Given the description of an element on the screen output the (x, y) to click on. 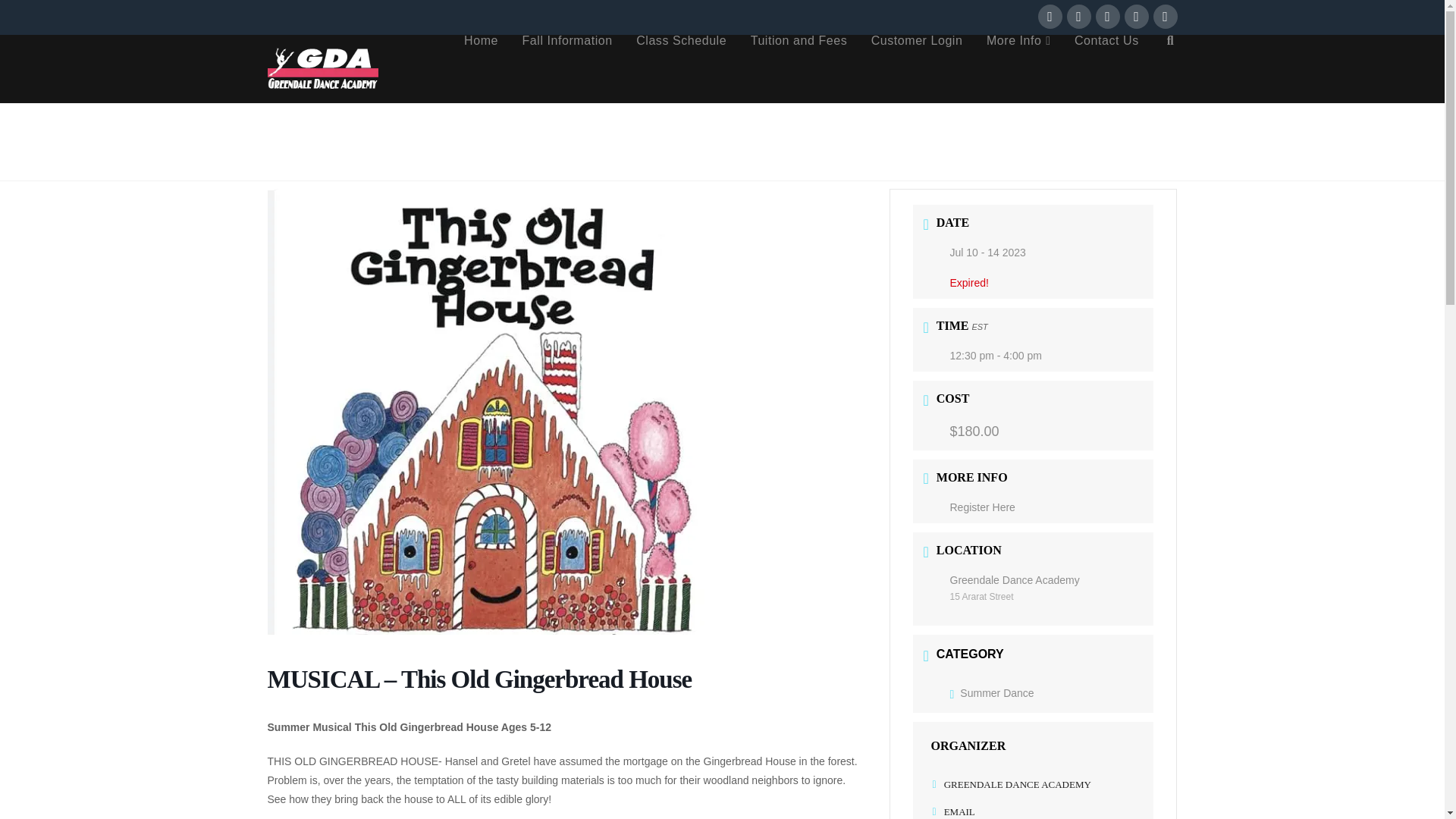
Class Schedule (681, 69)
Contact Us (1106, 69)
Customer Login (916, 69)
Facebook (1048, 16)
Instagram (1164, 16)
More Info (1018, 69)
Fall Information (566, 69)
Up-Front Pricing with No Hidden Fees. (798, 69)
Login into the customer portal (916, 69)
YouTube (1136, 16)
